Given the description of an element on the screen output the (x, y) to click on. 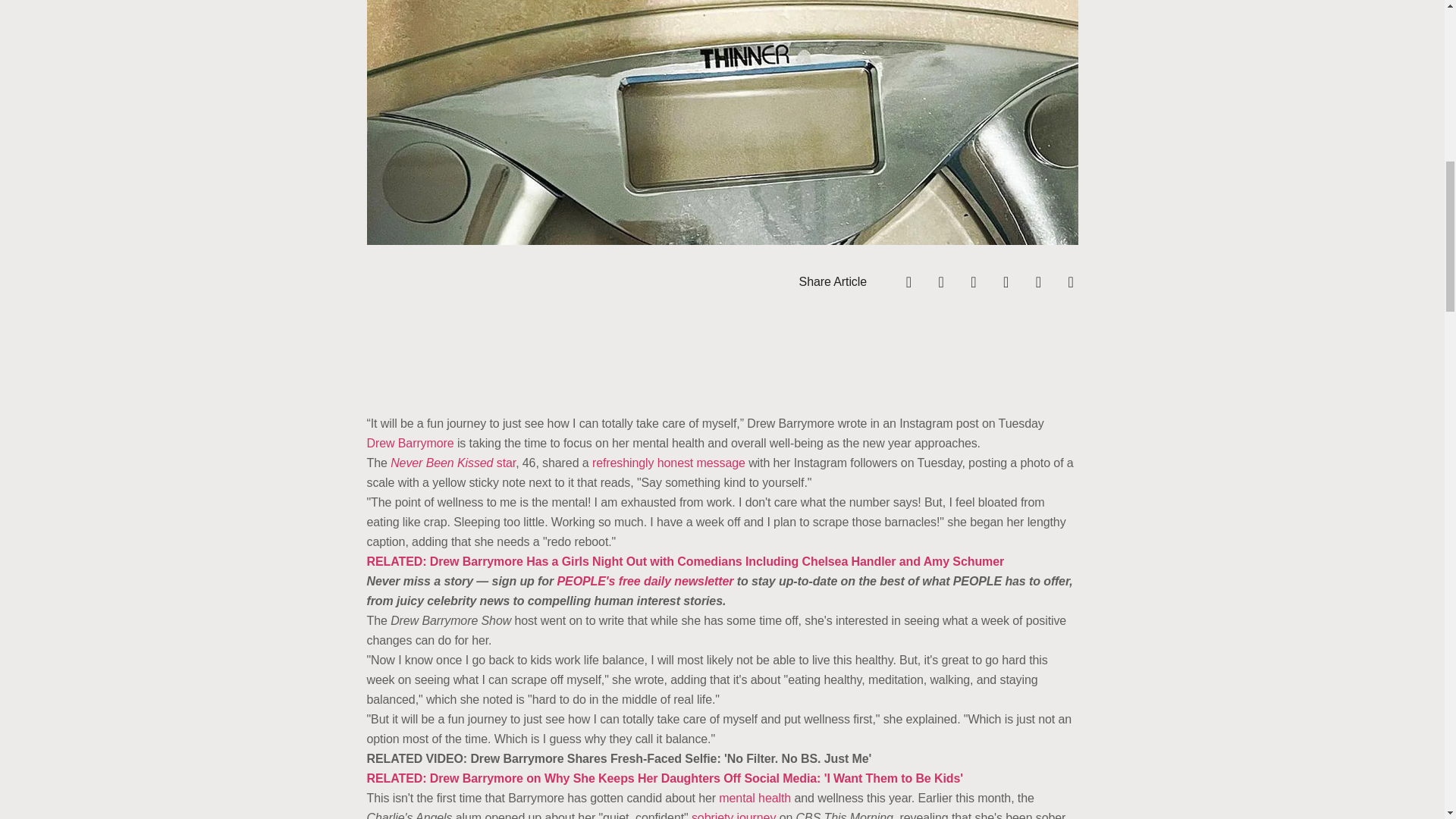
refreshingly honest message (668, 462)
PEOPLE's free daily newsletter (643, 581)
Drew Barrymore (410, 442)
sobriety journey (733, 815)
mental health (754, 797)
Never Been Kissed star (452, 462)
